Given the description of an element on the screen output the (x, y) to click on. 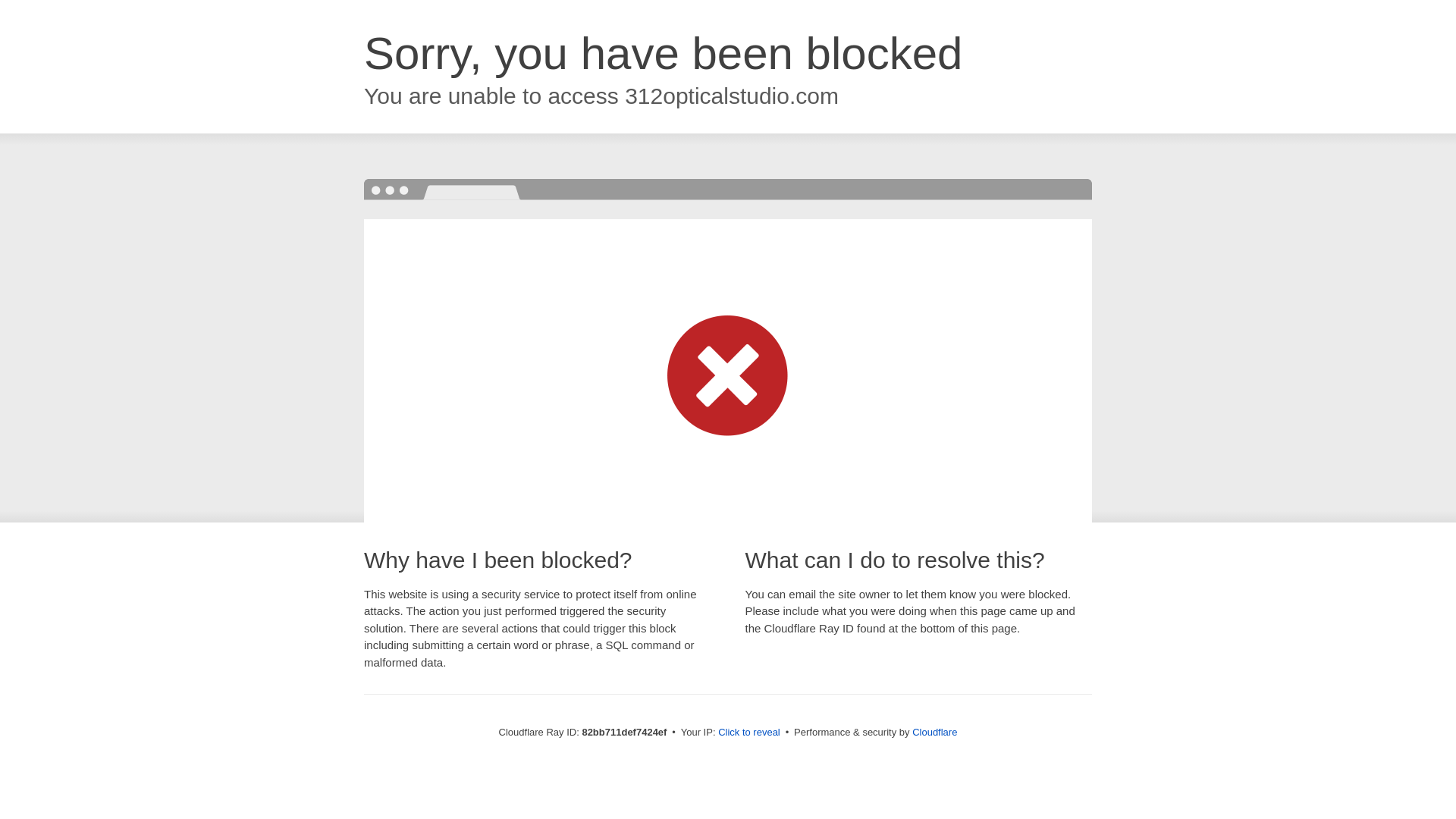
Cloudflare Element type: text (934, 731)
Click to reveal Element type: text (749, 732)
